Given the description of an element on the screen output the (x, y) to click on. 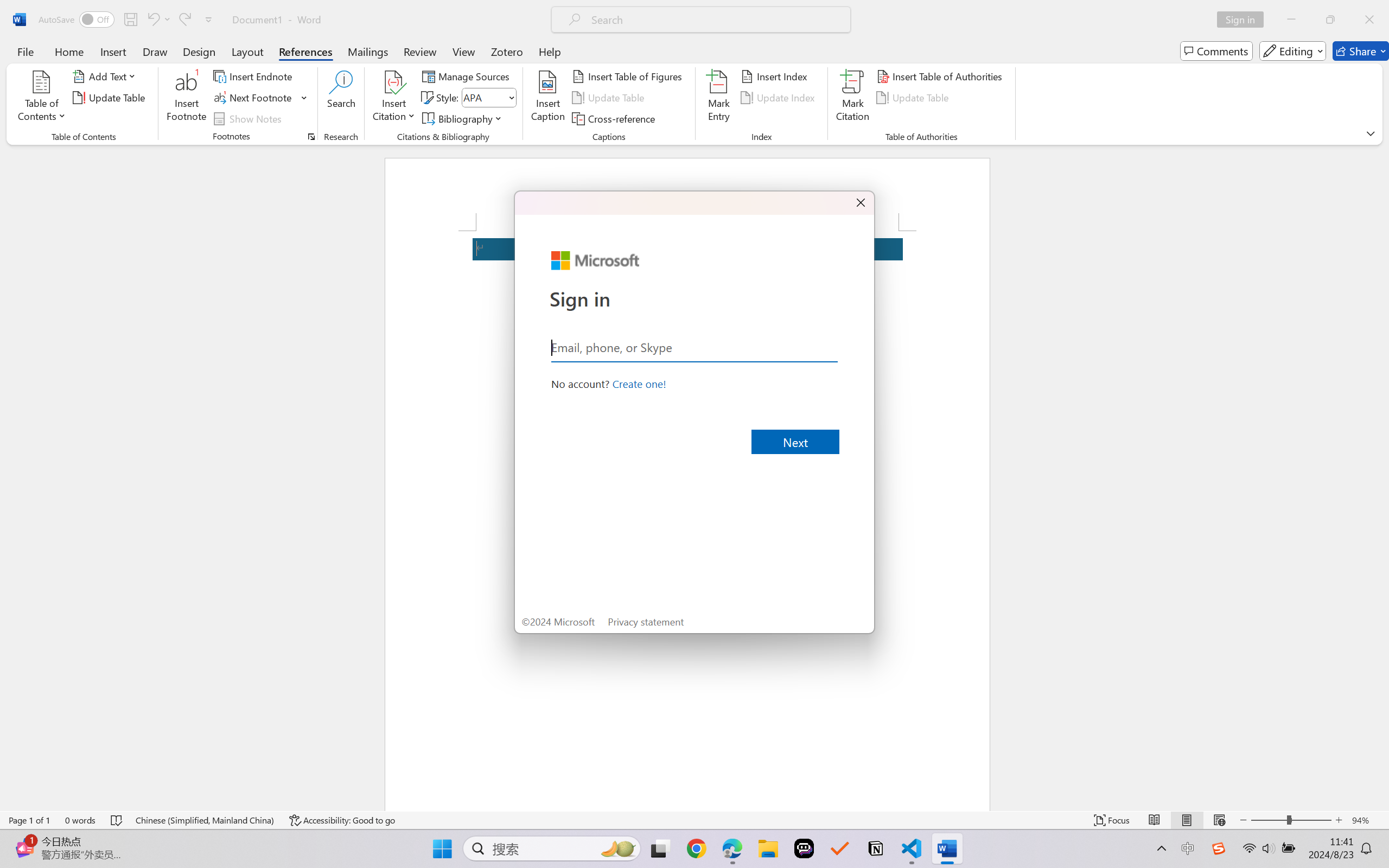
Add Text (106, 75)
Next Footnote (260, 97)
Show Notes (248, 118)
Insert Endnote (253, 75)
Language Chinese (Simplified, Mainland China) (205, 819)
Manage Sources... (467, 75)
